Given the description of an element on the screen output the (x, y) to click on. 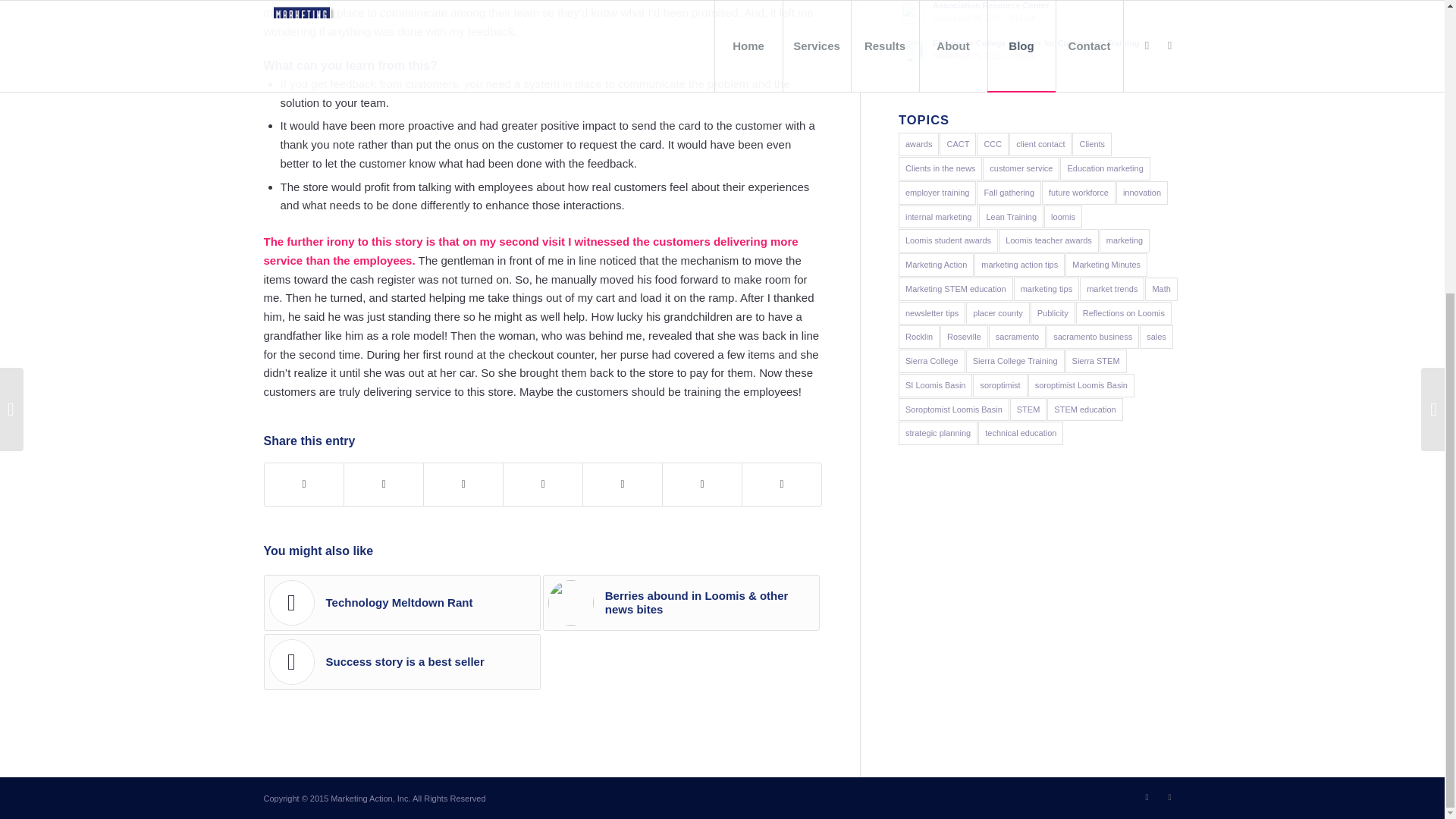
Technology Meltdown Rant (401, 602)
dsc01425 (571, 602)
Success story is a best seller (401, 661)
awards (918, 144)
Technology Meltdown Rant (401, 602)
CACT (957, 144)
Success story is a best seller (1039, 13)
